Given the description of an element on the screen output the (x, y) to click on. 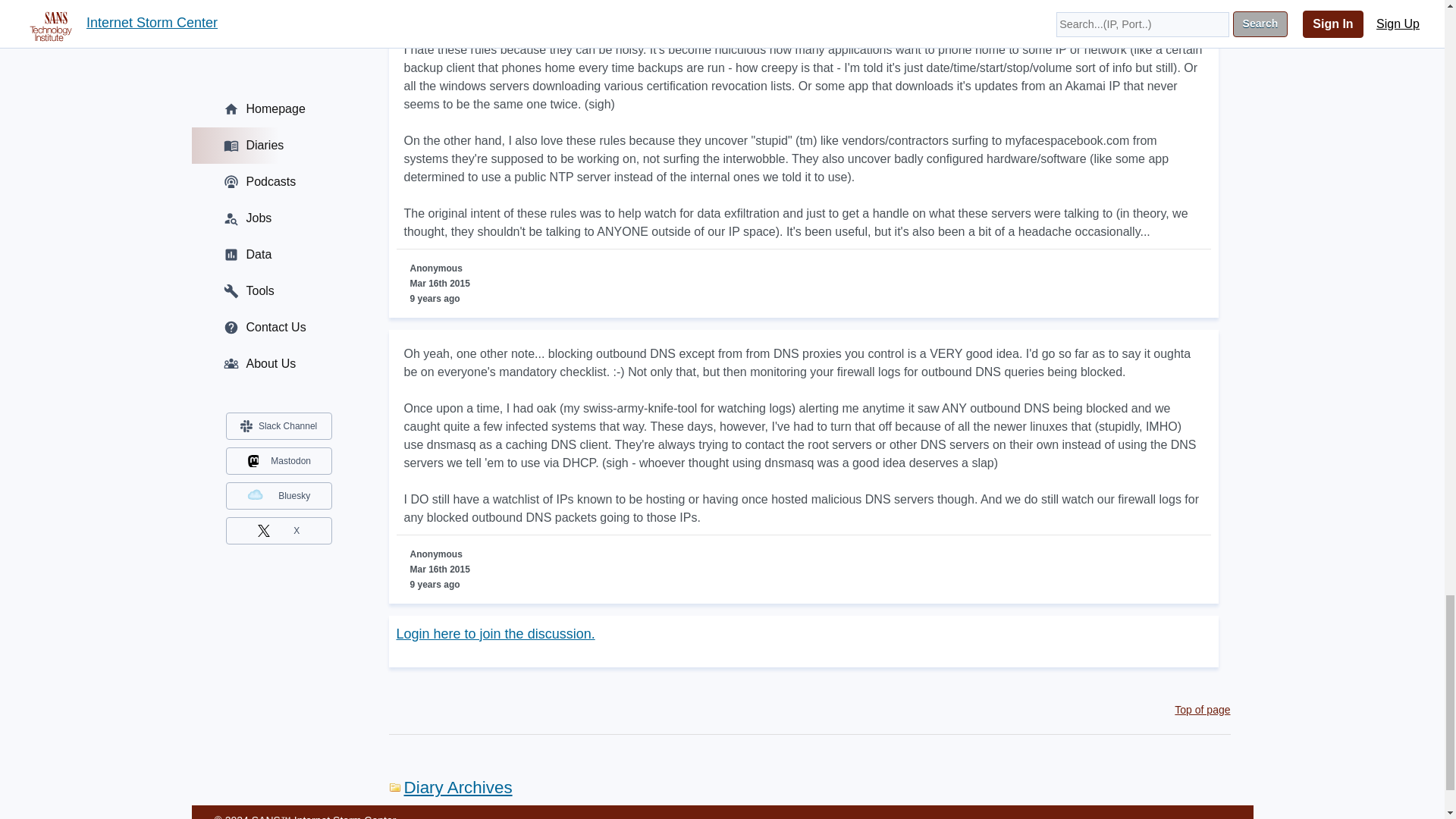
Login here to join the discussion. (495, 633)
Diary Archives (450, 787)
Top of page (1202, 709)
